Given the description of an element on the screen output the (x, y) to click on. 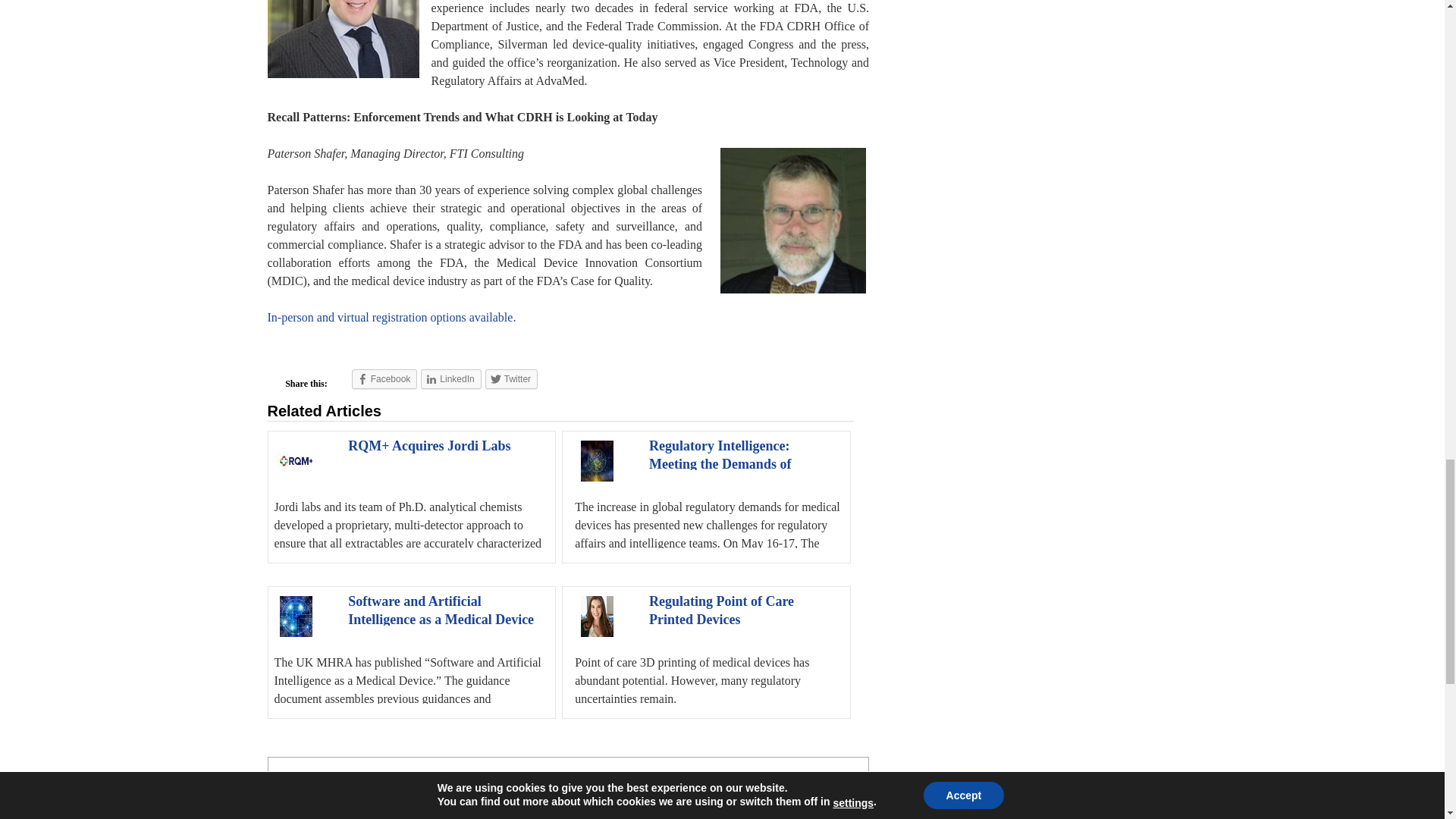
Facebook (384, 379)
Twitter (510, 379)
Click to share on Facebook (384, 379)
LinkedIn (450, 379)
In-person and virtual registration options available. (390, 317)
